Given the description of an element on the screen output the (x, y) to click on. 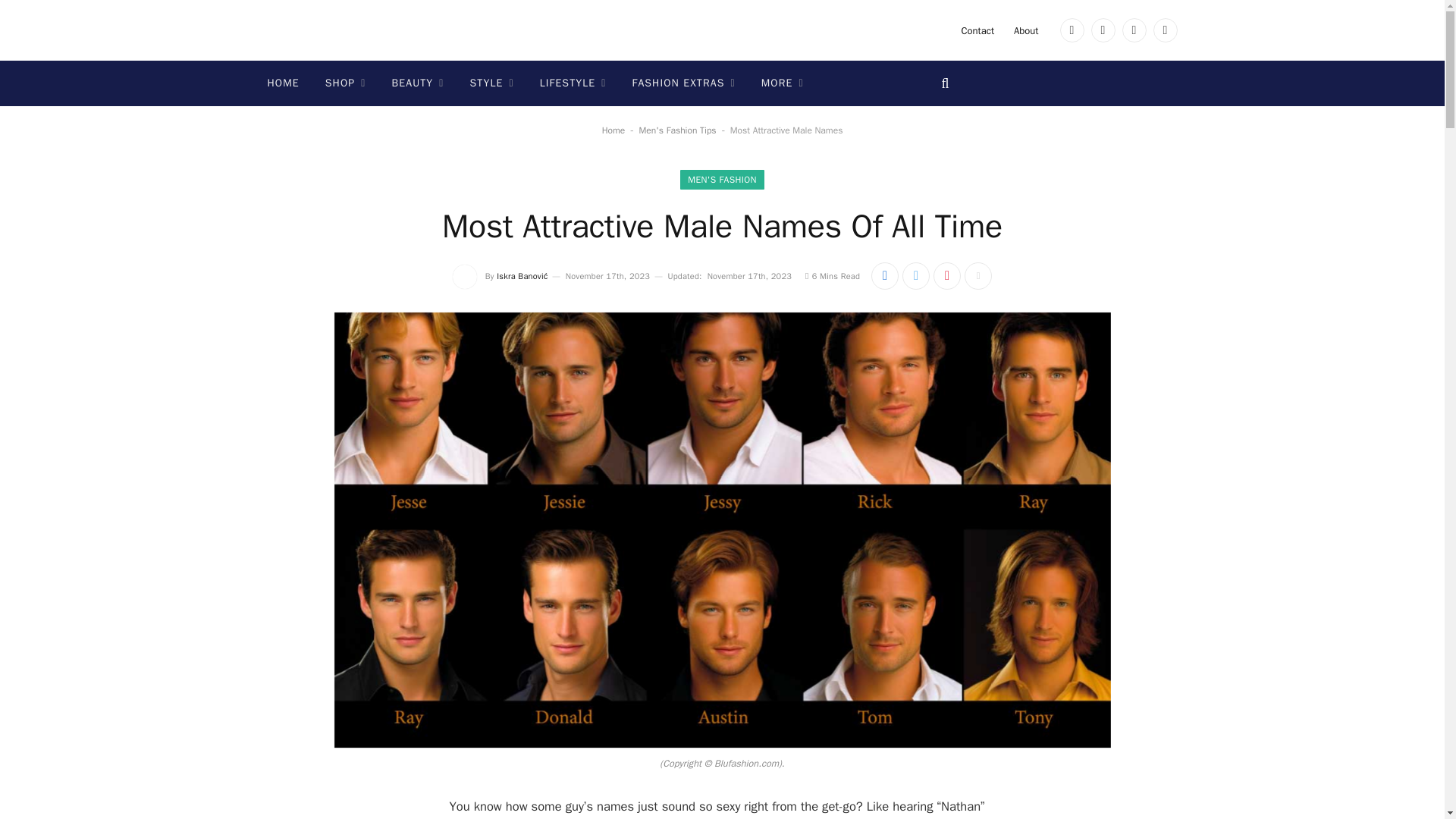
Share on Facebook (884, 275)
Show More Social Sharing (977, 275)
Share on Pinterest (946, 275)
Blufashion.com (342, 30)
